Given the description of an element on the screen output the (x, y) to click on. 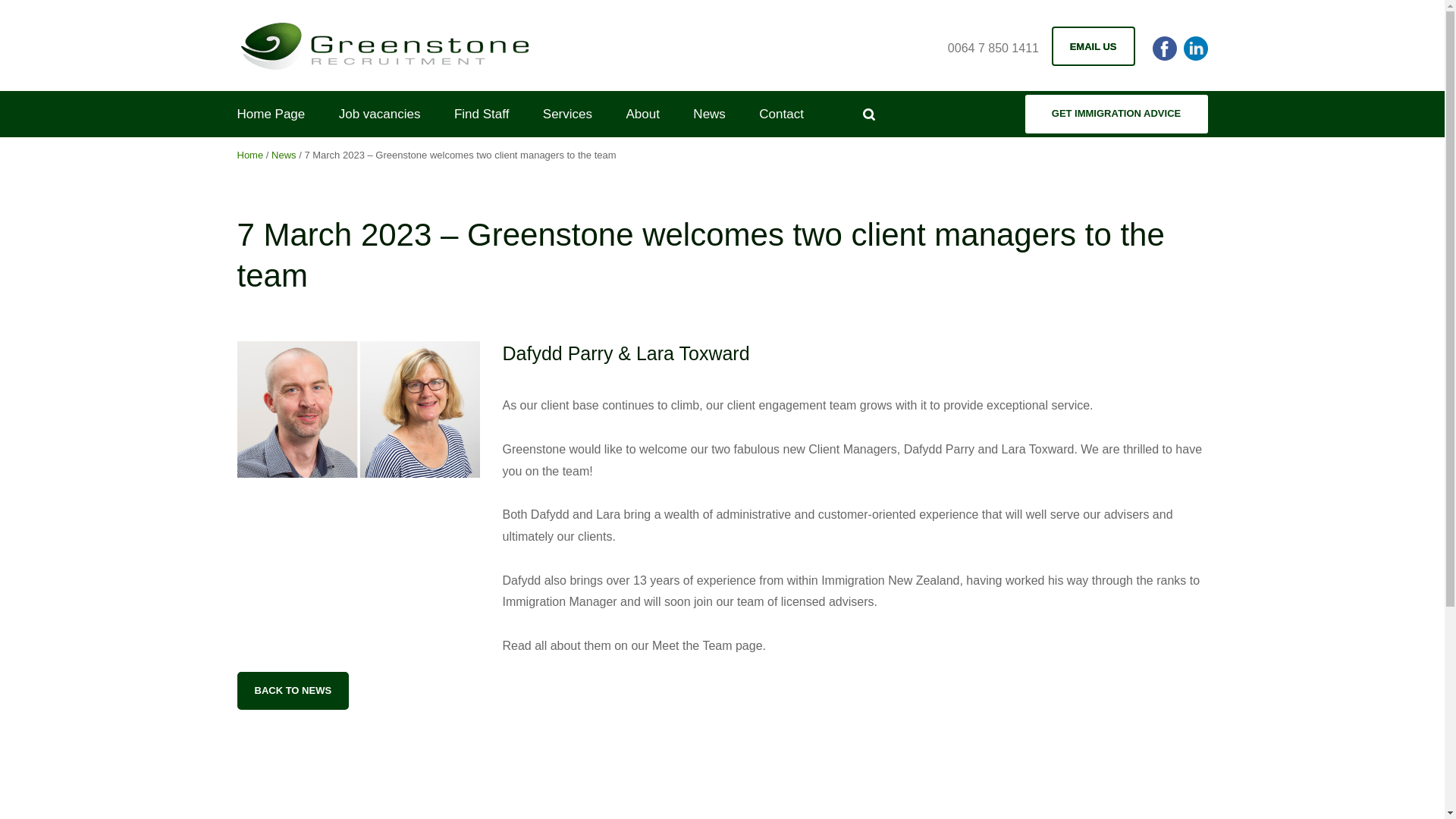
Contact (780, 114)
GET IMMIGRATION ADVICE (1116, 114)
News (709, 114)
Job vacancies (379, 114)
Services (567, 114)
Find Staff (481, 114)
Linkedin (1194, 48)
0064 7 850 1411 (993, 47)
About (642, 114)
Home Page (269, 114)
facebook (1164, 48)
